Given the description of an element on the screen output the (x, y) to click on. 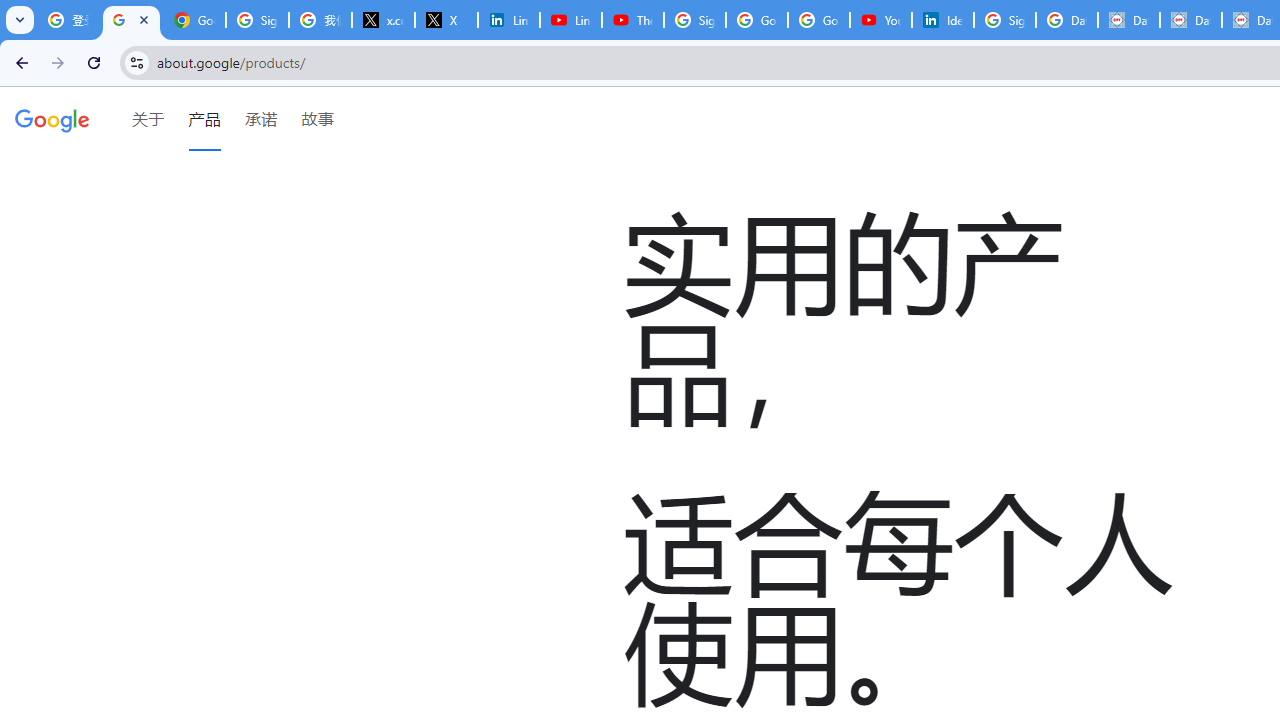
Identity verification via Persona | LinkedIn Help (942, 20)
LinkedIn Privacy Policy (508, 20)
